Given the description of an element on the screen output the (x, y) to click on. 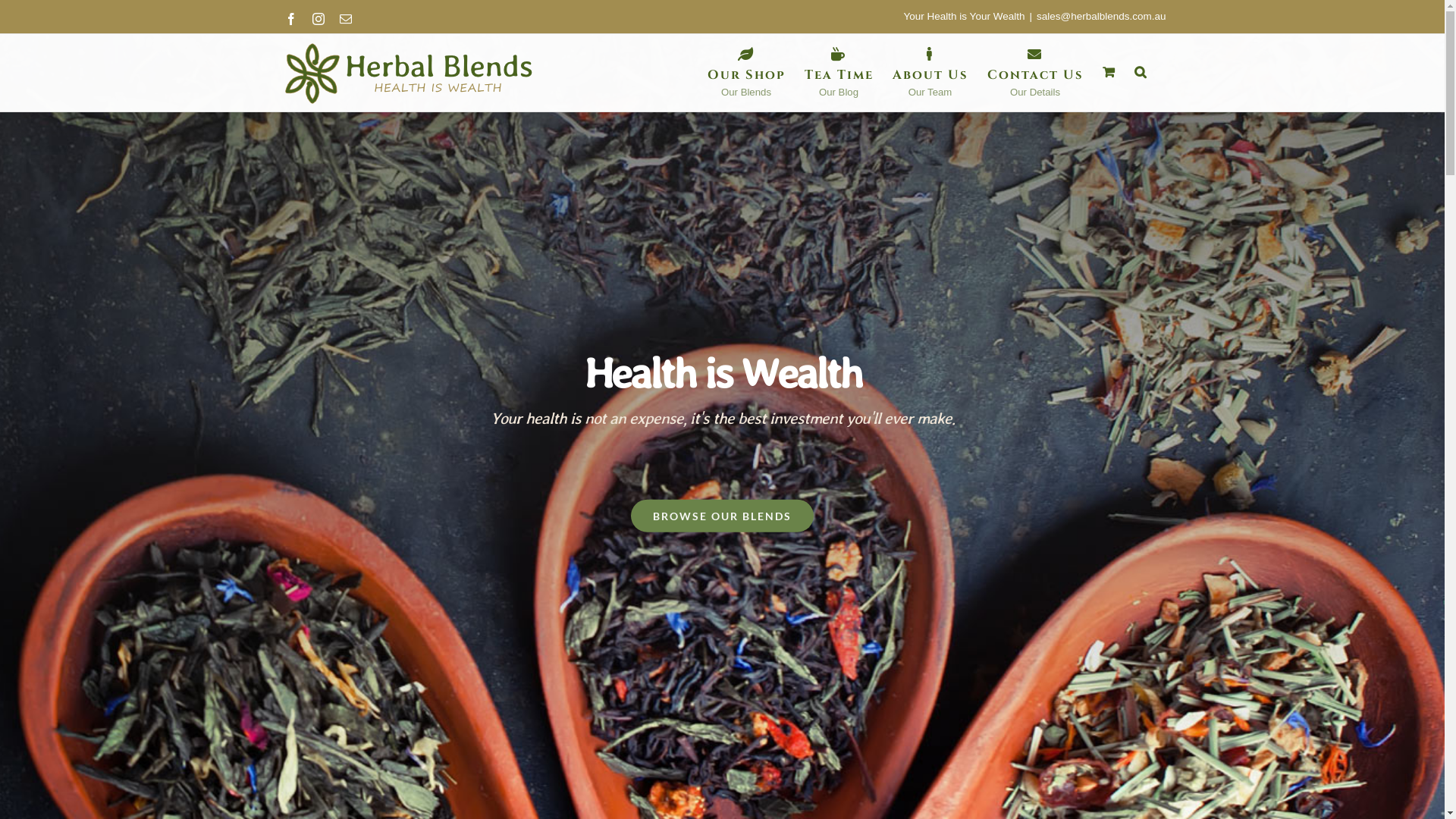
Email Element type: text (345, 18)
Search Element type: hover (1140, 71)
Contact Us
Our Details Element type: text (1035, 71)
About Us
Our Team Element type: text (929, 71)
Instagram Element type: text (318, 18)
sales@herbalblends.com.au Element type: text (1101, 15)
Facebook Element type: text (291, 18)
Tea Time
Our Blog Element type: text (837, 71)
Our Shop
Our Blends Element type: text (745, 71)
BROWSE OUR BLENDS Element type: text (721, 514)
